Given the description of an element on the screen output the (x, y) to click on. 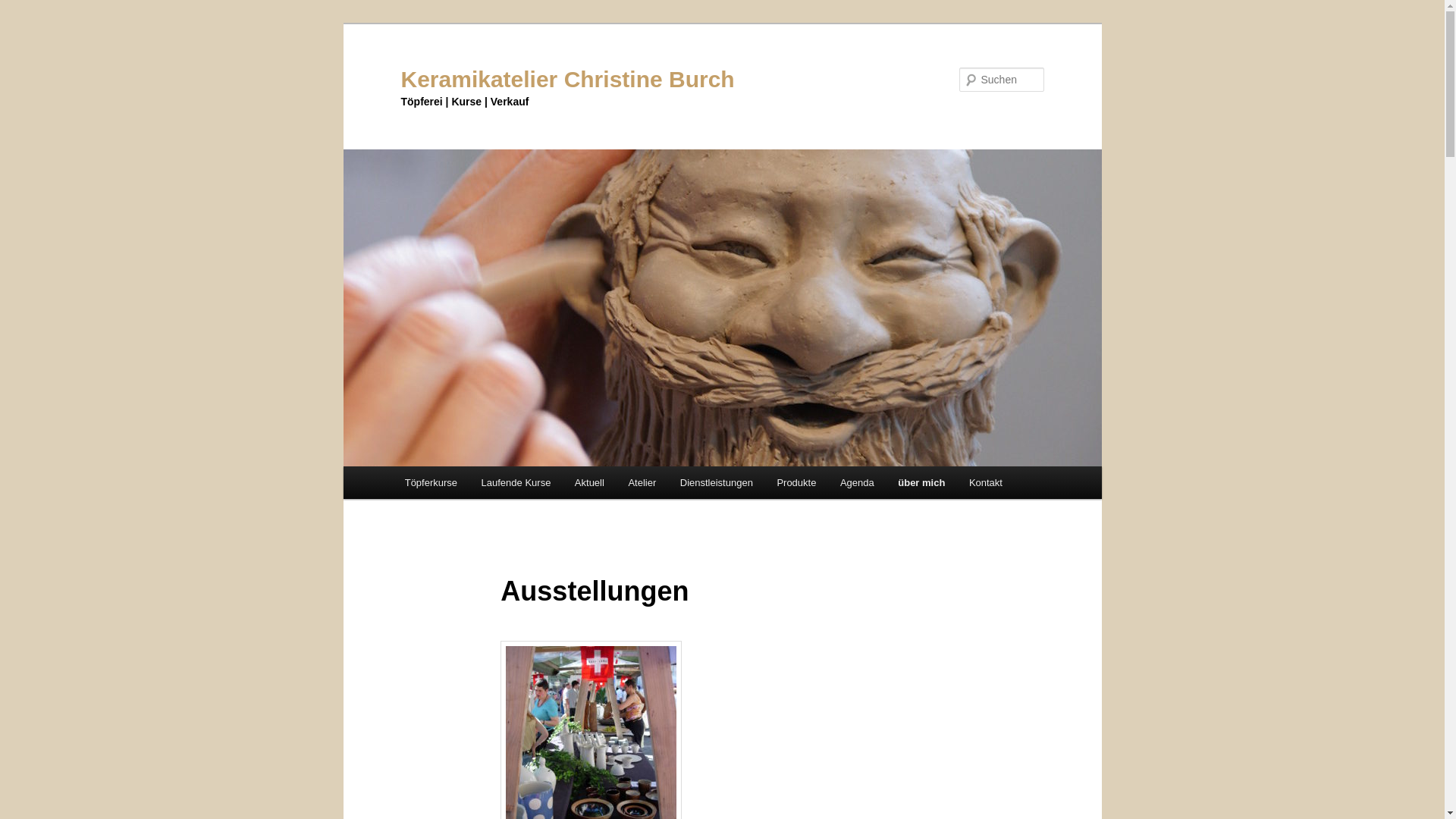
Kontakt Element type: text (985, 482)
Atelier Element type: text (642, 482)
Produkte Element type: text (796, 482)
Aktuell Element type: text (589, 482)
Laufende Kurse Element type: text (515, 482)
Keramikatelier Christine Burch Element type: text (567, 78)
Zum Inhalt wechseln Element type: text (22, 22)
Dienstleistungen Element type: text (716, 482)
Suchen Element type: text (25, 8)
Agenda Element type: text (856, 482)
